Given the description of an element on the screen output the (x, y) to click on. 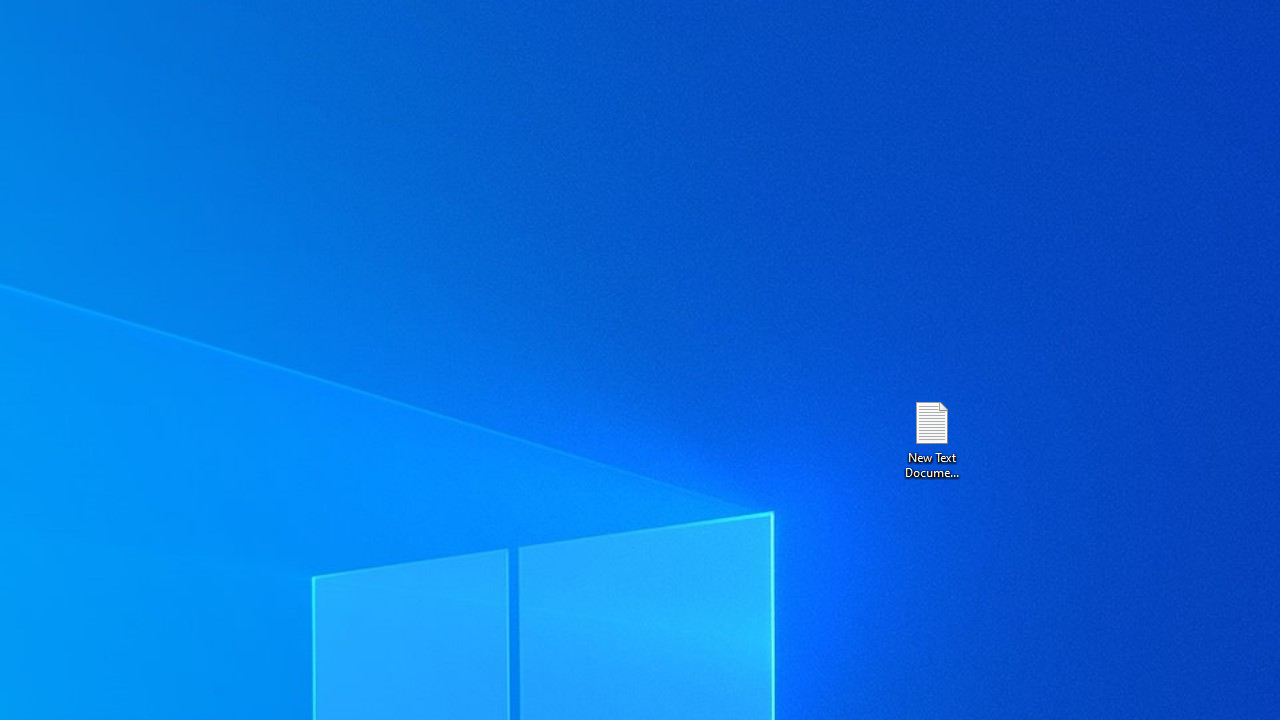
New Text Document (2) (931, 438)
